Given the description of an element on the screen output the (x, y) to click on. 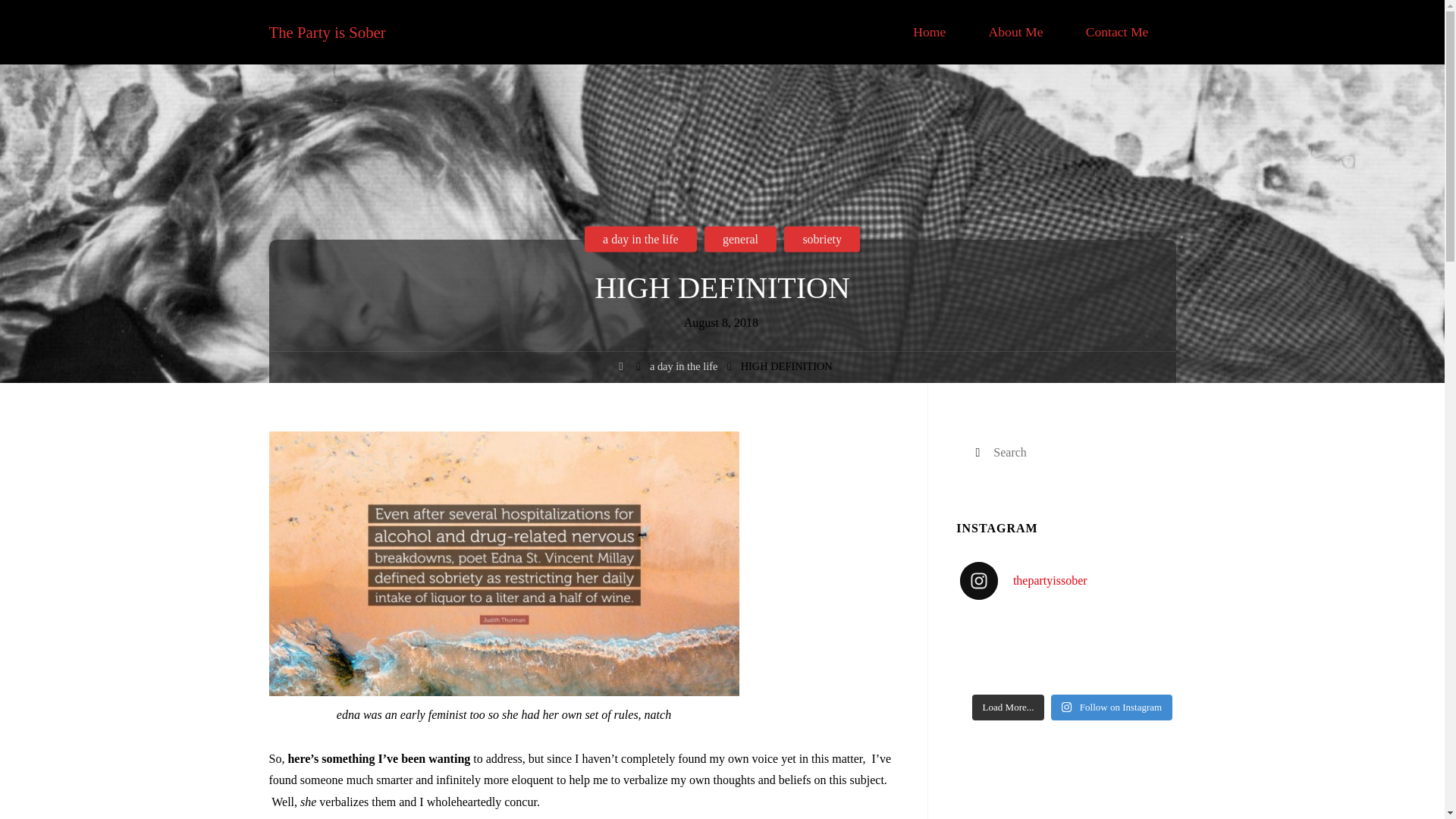
Load More... (1008, 707)
Contact Me (1117, 32)
sobriety (822, 267)
general (740, 276)
Home (619, 368)
Search (977, 452)
Home (619, 385)
a day in the life (641, 289)
Home (928, 32)
thepartyissober (1072, 580)
